Given the description of an element on the screen output the (x, y) to click on. 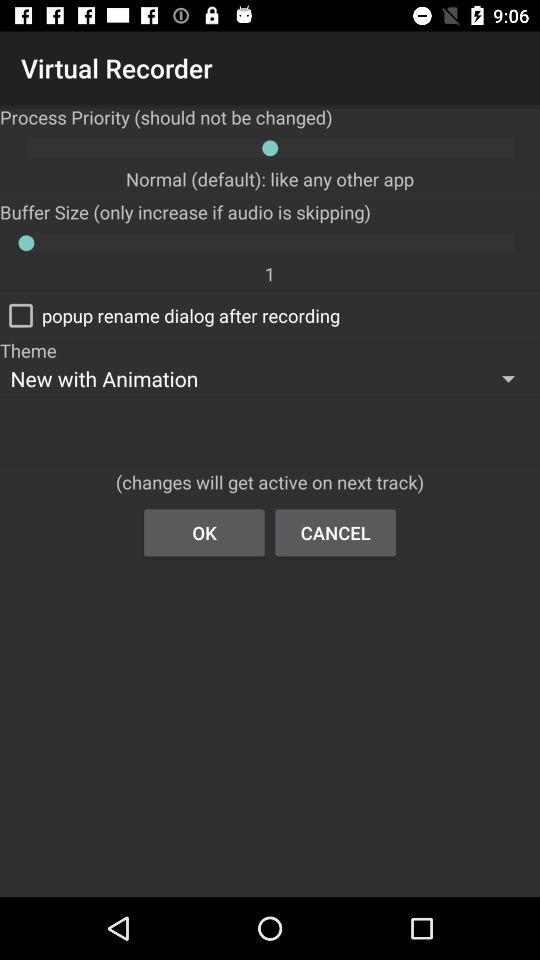
turn off cancel icon (335, 532)
